Given the description of an element on the screen output the (x, y) to click on. 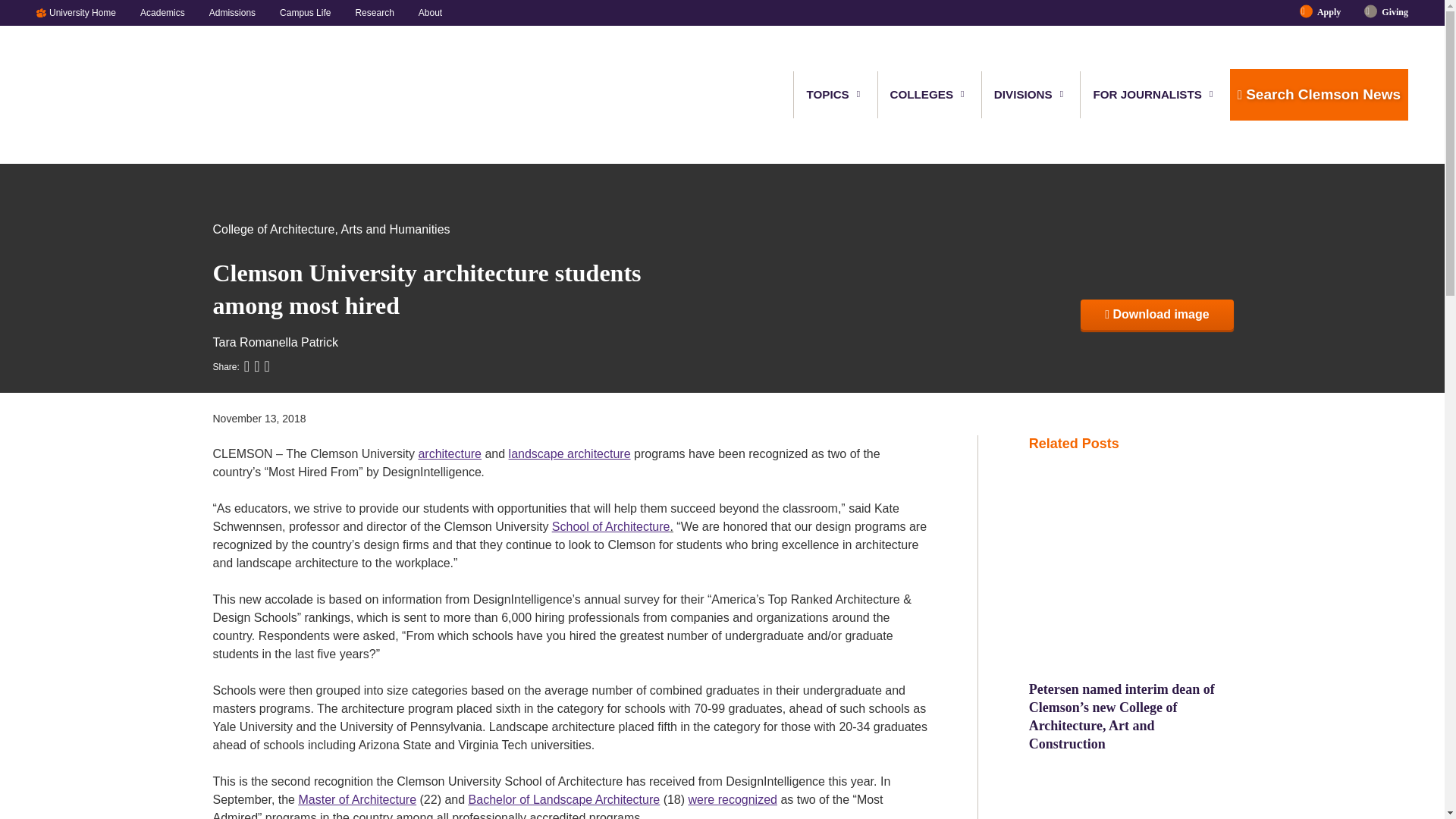
University Home (88, 12)
TOPICS (828, 94)
Campus Life (304, 12)
About (424, 12)
Apply (1328, 11)
Giving (1388, 11)
Research (374, 12)
Posts by Tara Romanella Patrick (274, 341)
Admissions (231, 12)
Academics (162, 12)
